Given the description of an element on the screen output the (x, y) to click on. 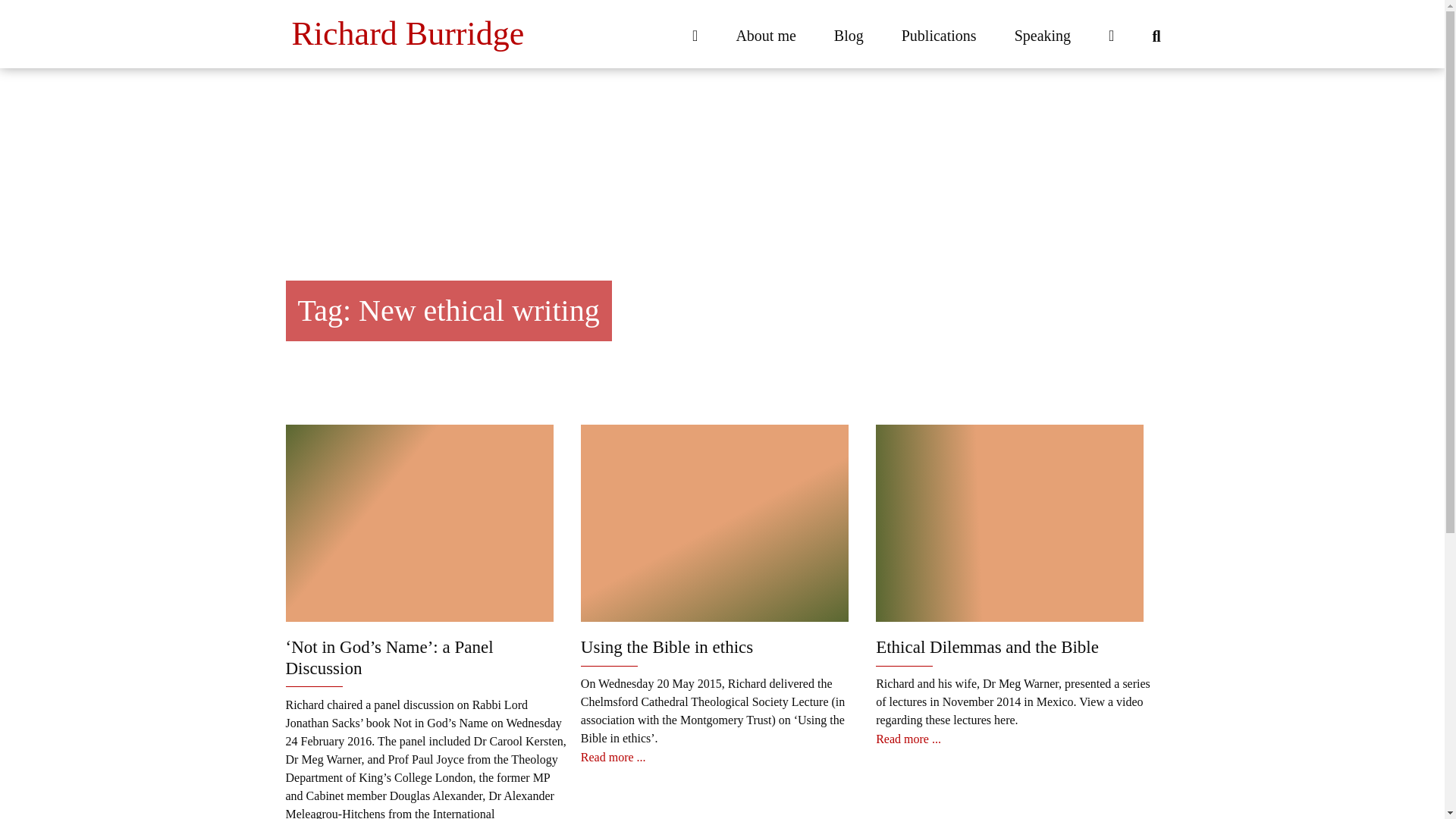
Using the Bible in ethics (666, 647)
Richard Burridge (407, 33)
Read more ... (908, 738)
Speaking (1042, 35)
Ethical Dilemmas and the Bible (987, 647)
About me (764, 35)
Read more ... (613, 757)
Publications (938, 35)
